Given the description of an element on the screen output the (x, y) to click on. 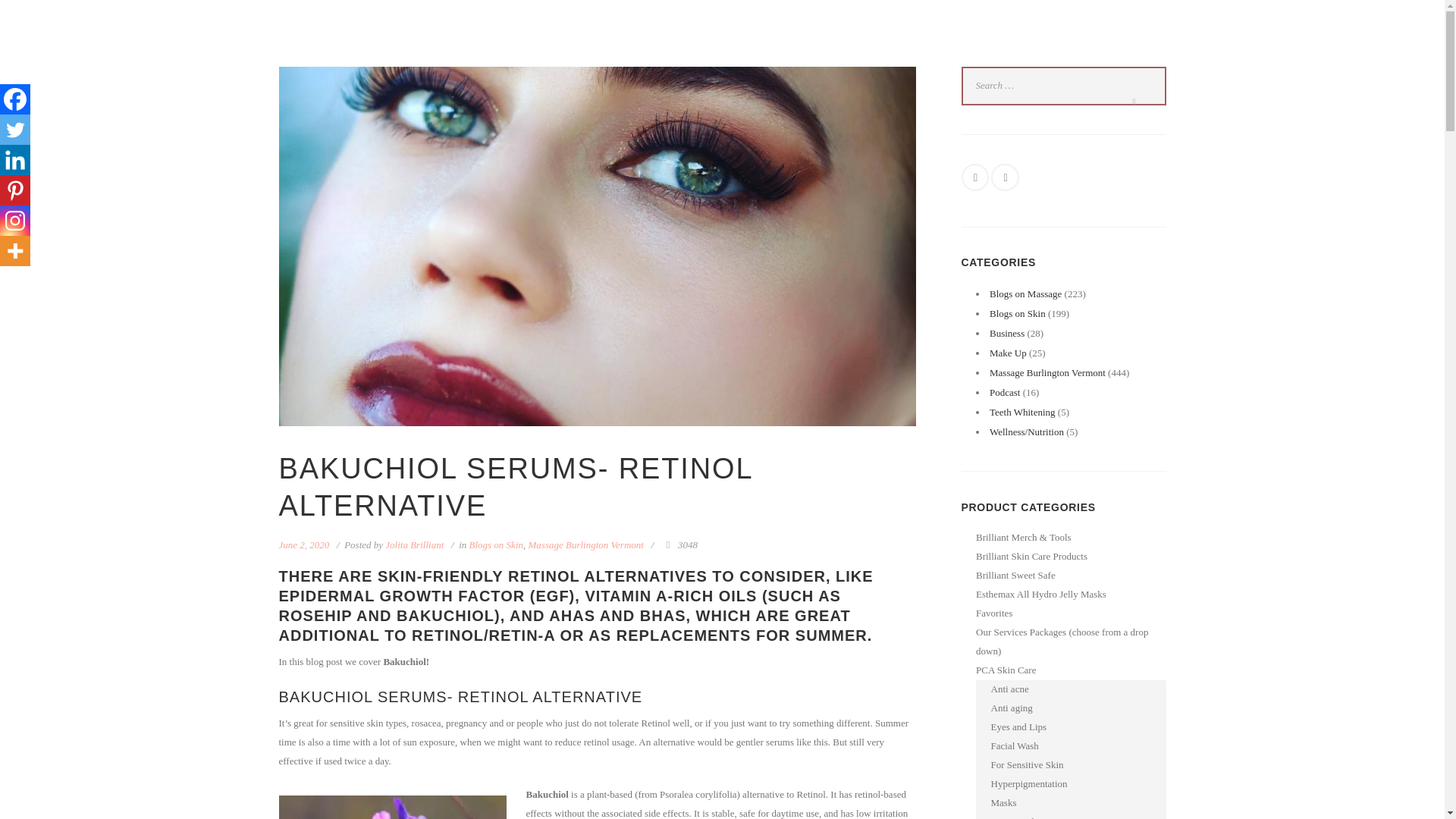
AHAS AND BHAS (616, 615)
Pinterest (15, 190)
Jolita Brilliant (414, 544)
June 2, 2020 (304, 544)
Search for: (1063, 85)
More (15, 250)
Blogs on Skin (495, 544)
Facebook (15, 99)
Views - 3048 (679, 545)
Instagram (15, 220)
